Given the description of an element on the screen output the (x, y) to click on. 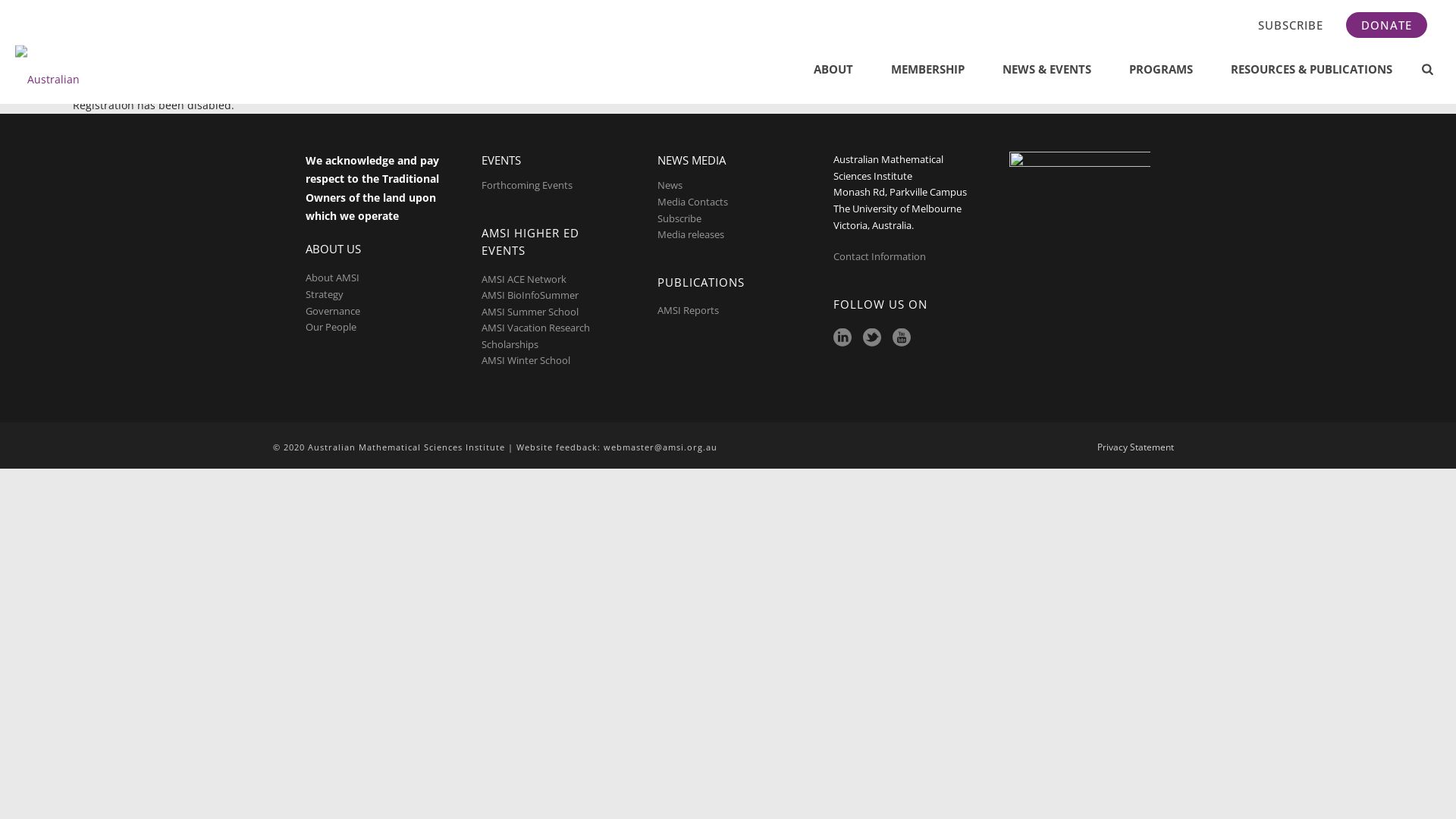
Governance Element type: text (332, 310)
AMSI Summer School Element type: text (529, 311)
Follow Us on youtube Element type: hover (901, 338)
webmaster@amsi.org.au Element type: text (660, 446)
AMSI Winter School Element type: text (525, 360)
Strategy Element type: text (324, 294)
Australian Mathematical Sciences Institute Element type: hover (49, 69)
NEWS & EVENTS Element type: text (1046, 69)
AMSI BioInfoSummer Element type: text (529, 294)
Our People Element type: text (330, 326)
DONATE Element type: text (1386, 24)
Media Contacts Element type: text (692, 201)
AMSI ACE Network Element type: text (523, 278)
SUBSCRIBE Element type: text (1290, 24)
Contact Information  Element type: text (880, 256)
MEMBERSHIP Element type: text (927, 69)
Media releases Element type: text (690, 234)
Privacy Statement Element type: text (1135, 447)
AMSI Vacation Research Scholarships Element type: text (535, 335)
AMSI Reports Element type: text (687, 309)
RESOURCES & PUBLICATIONS Element type: text (1311, 69)
News Element type: text (669, 184)
About AMSI Element type: text (332, 277)
Follow Us on twitter Element type: hover (871, 338)
Follow Us on linkedin Element type: hover (842, 338)
PROGRAMS Element type: text (1160, 69)
Subscribe Element type: text (679, 218)
Forthcoming Events Element type: text (526, 184)
ABOUT Element type: text (833, 69)
